Given the description of an element on the screen output the (x, y) to click on. 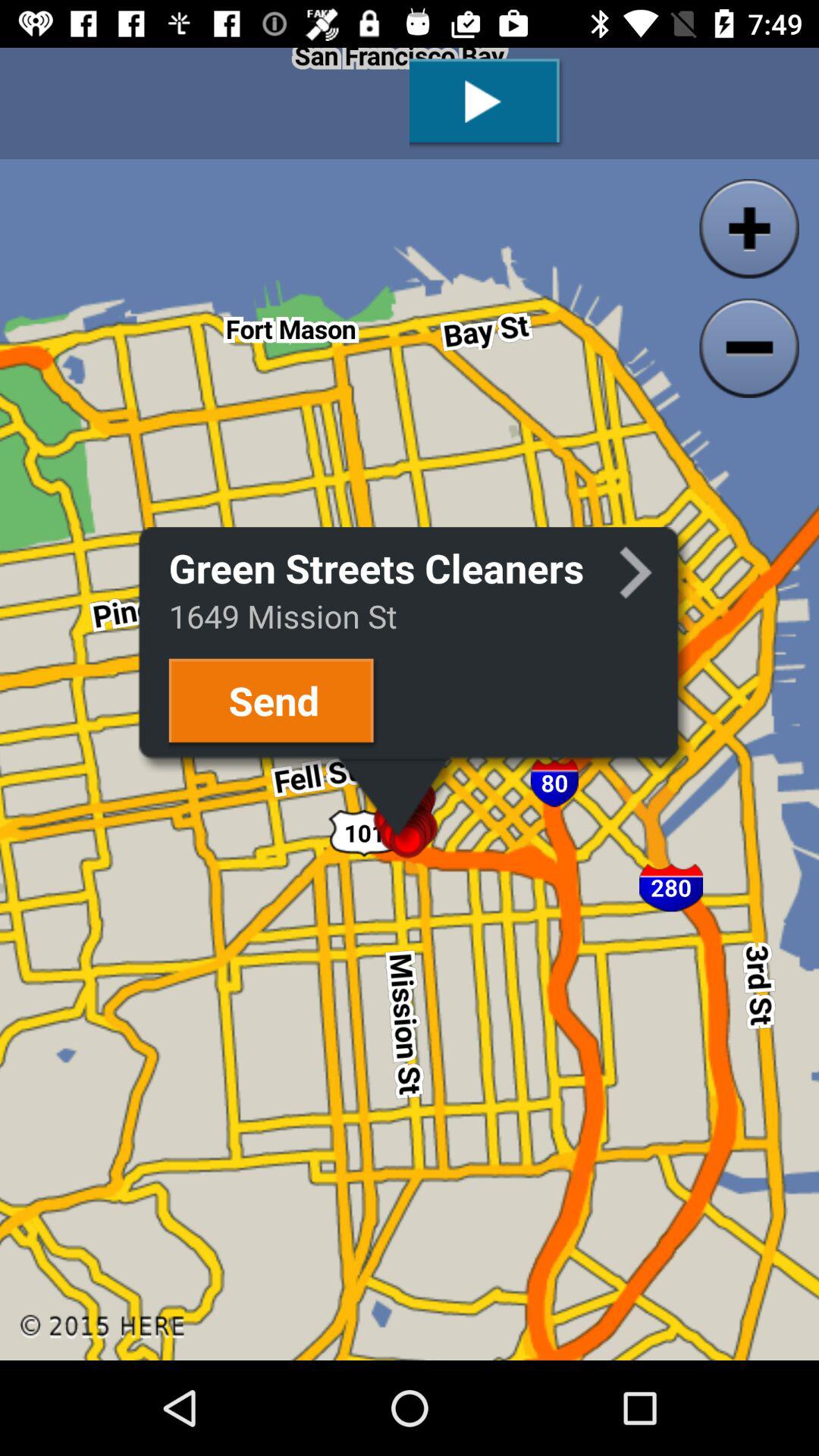
turn off icon below the 1649 mission st (273, 703)
